Given the description of an element on the screen output the (x, y) to click on. 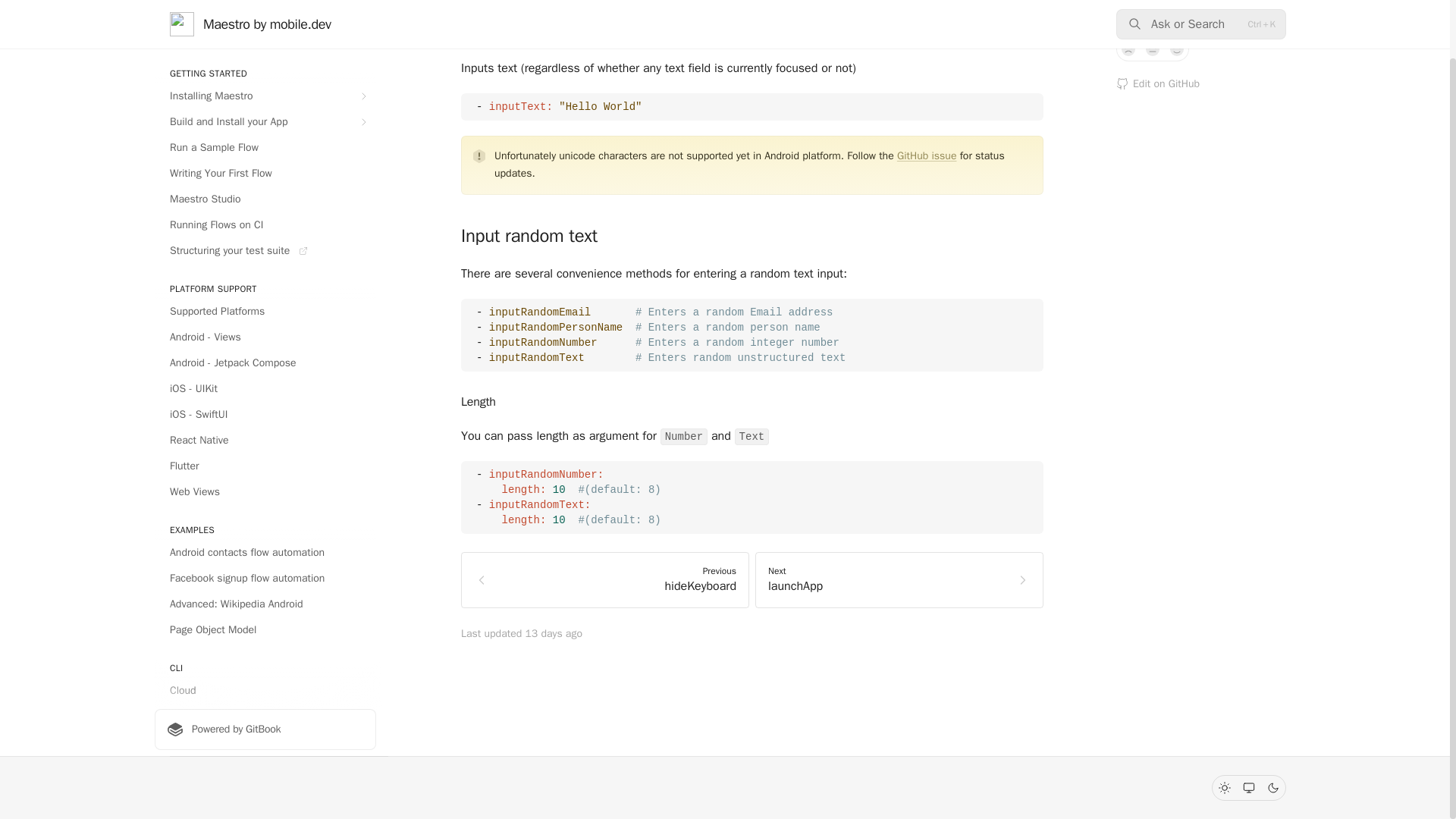
Android - Jetpack Compose (264, 363)
iOS - UIKit (264, 388)
Supported Platforms (264, 311)
What is Maestro? (264, 11)
Running Flows on CI (264, 224)
iOS - SwiftUI (264, 414)
Flutter (264, 466)
Android - Views (264, 337)
No (1128, 48)
Cloud (264, 690)
Tags (264, 742)
Not sure (1152, 48)
React Native (264, 440)
Maestro Studio (264, 199)
Recording Your Flow (264, 767)
